Given the description of an element on the screen output the (x, y) to click on. 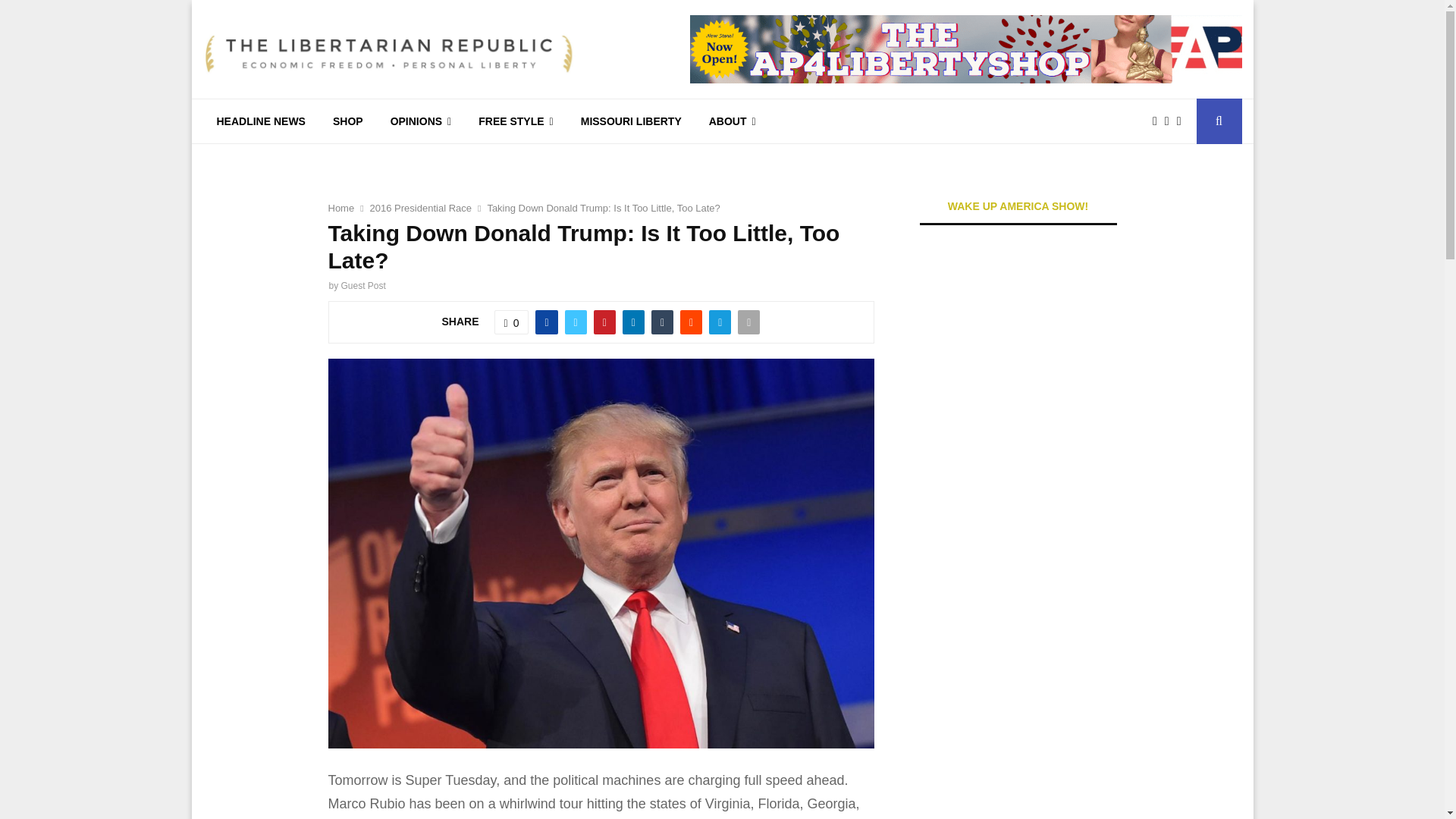
FREE STYLE (515, 121)
Like (512, 322)
Taking Down Donald Trump: Is It Too Little, Too Late? (602, 207)
2016 Presidential Race (420, 207)
OPINIONS (421, 121)
Home (340, 207)
MISSOURI LIBERTY (631, 121)
ABOUT (732, 121)
0 (512, 322)
Guest Post (362, 285)
